Given the description of an element on the screen output the (x, y) to click on. 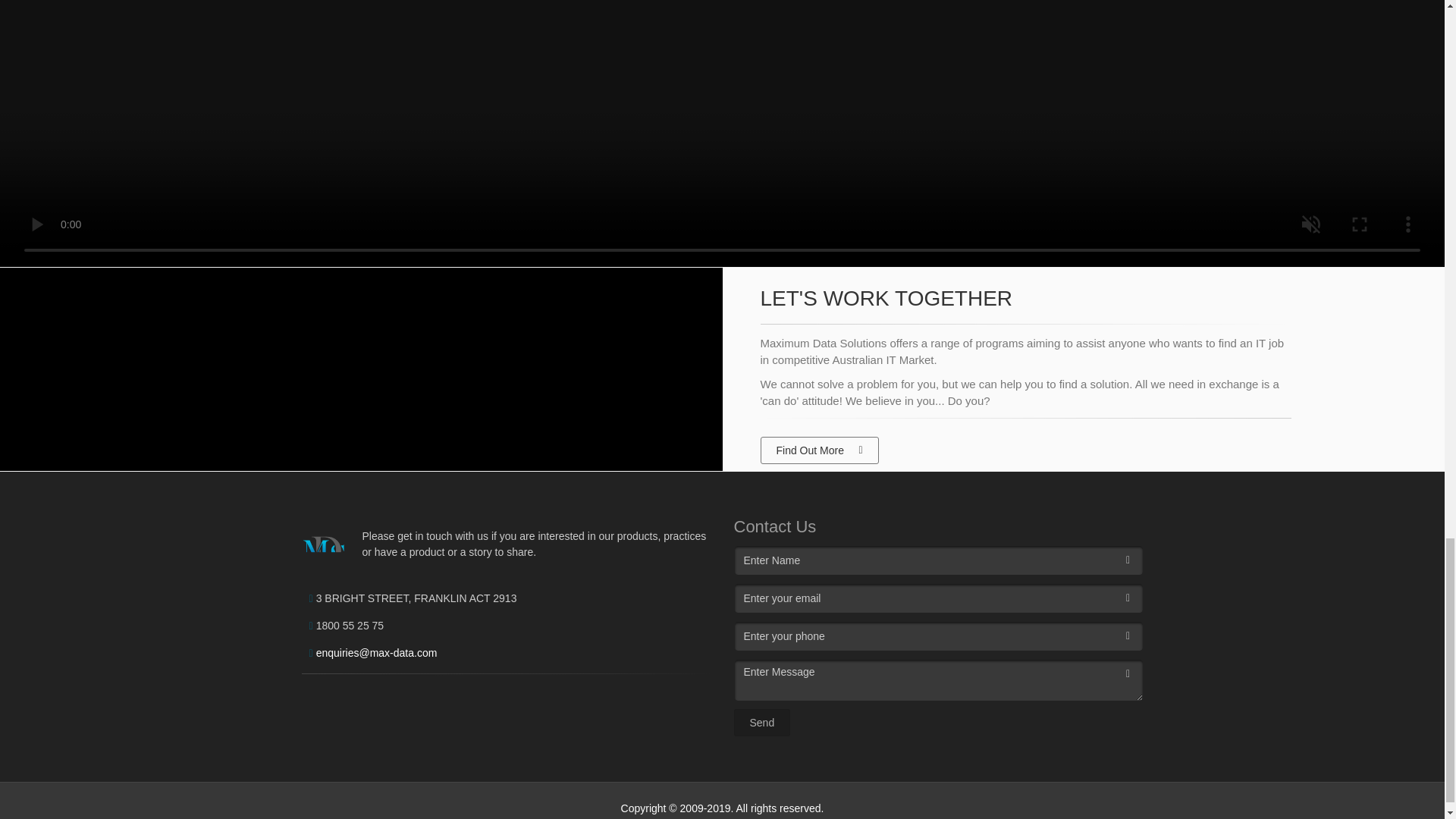
Send (761, 723)
Find Out More (818, 450)
Send (761, 723)
